Given the description of an element on the screen output the (x, y) to click on. 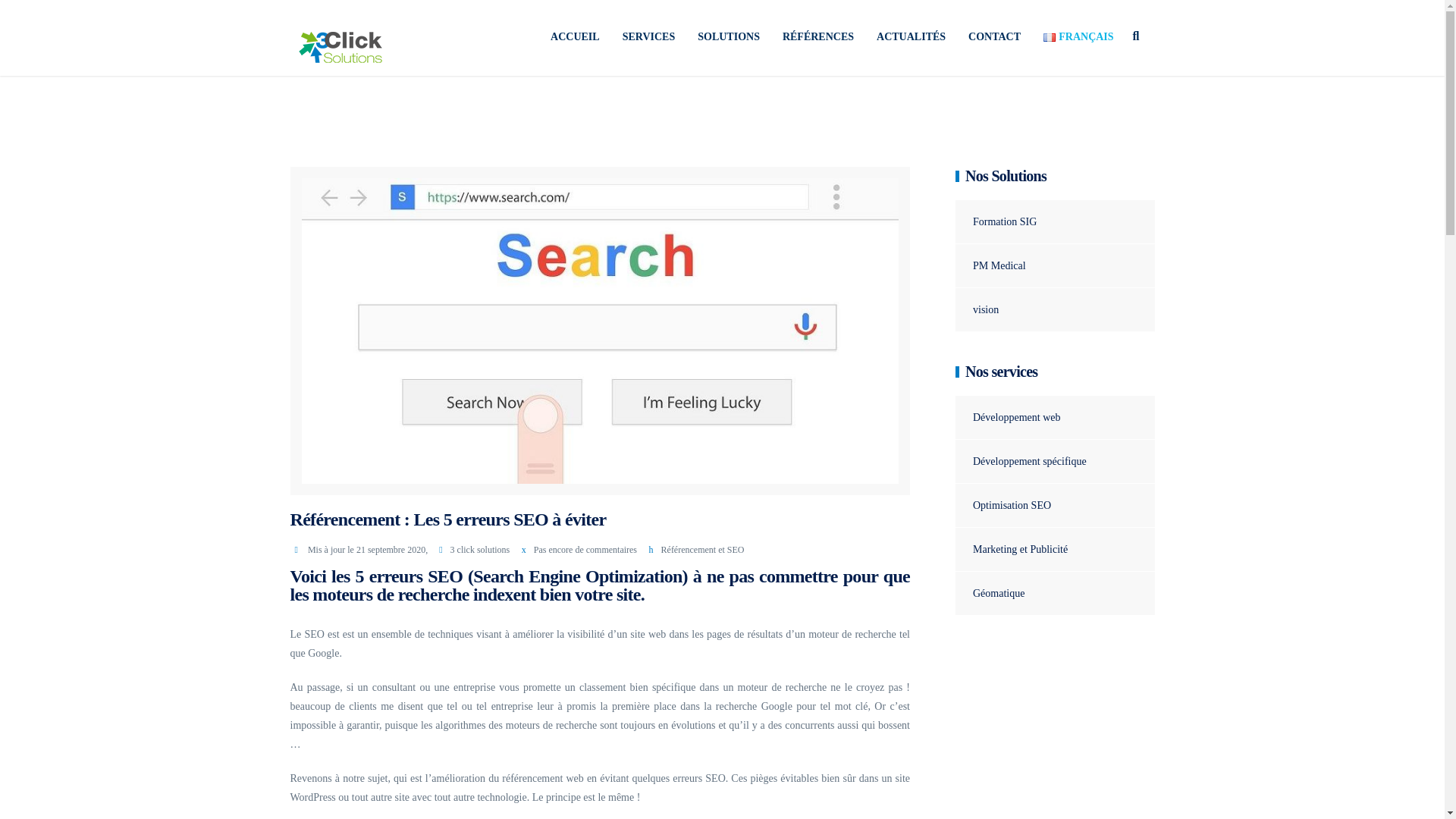
vision Element type: text (976, 309)
PM Medical Element type: text (990, 265)
Pas encore de commentaires Element type: text (585, 549)
ACCUEIL Element type: text (575, 36)
Formation SIG Element type: text (995, 221)
3 click solutions Element type: text (480, 549)
CONTACT Element type: text (994, 36)
Optimisation SEO Element type: text (1003, 505)
SERVICES Element type: text (649, 36)
SOLUTIONS Element type: text (728, 36)
